Given the description of an element on the screen output the (x, y) to click on. 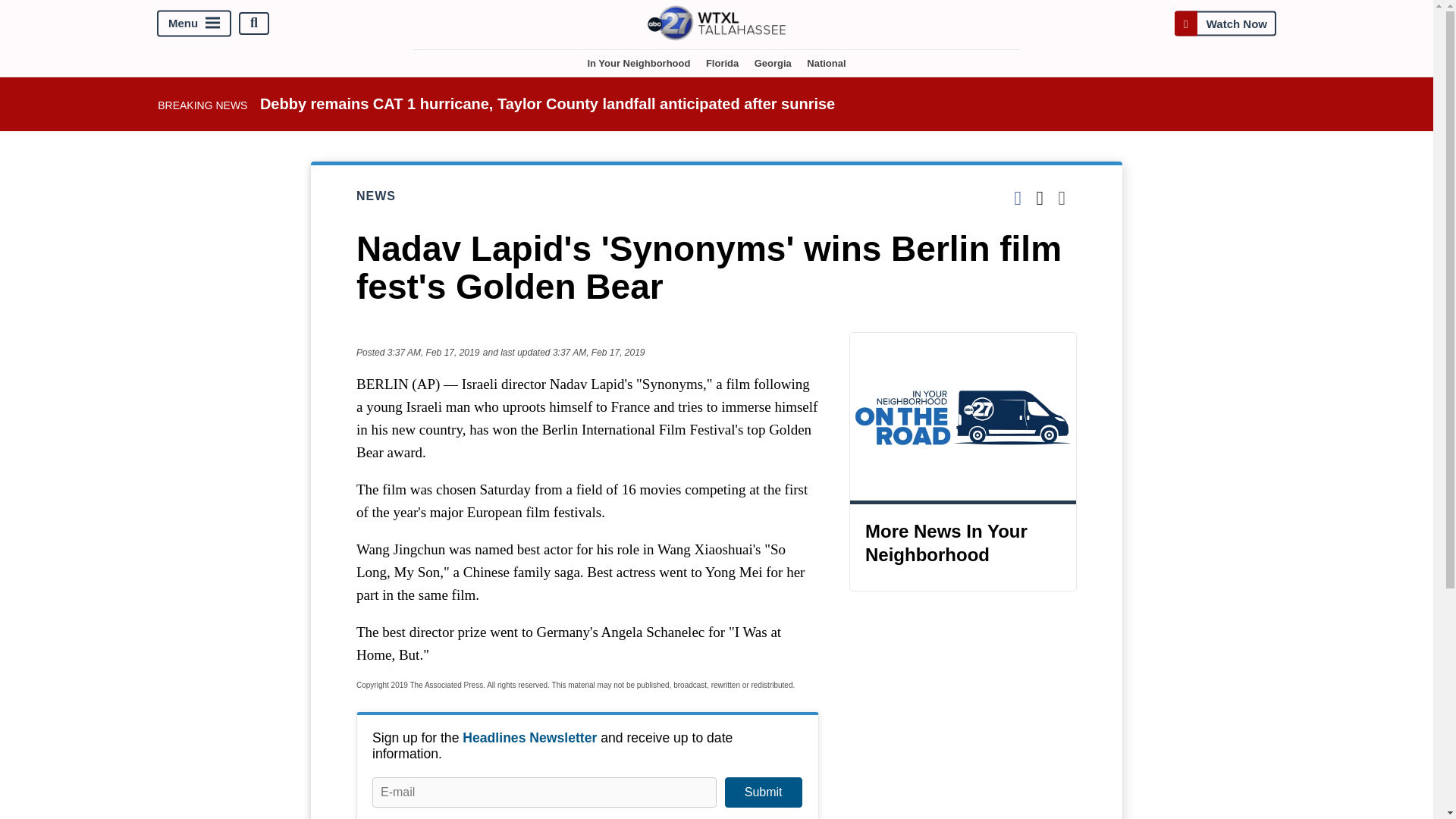
Watch Now (1224, 22)
Submit (763, 792)
Menu (194, 22)
